Given the description of an element on the screen output the (x, y) to click on. 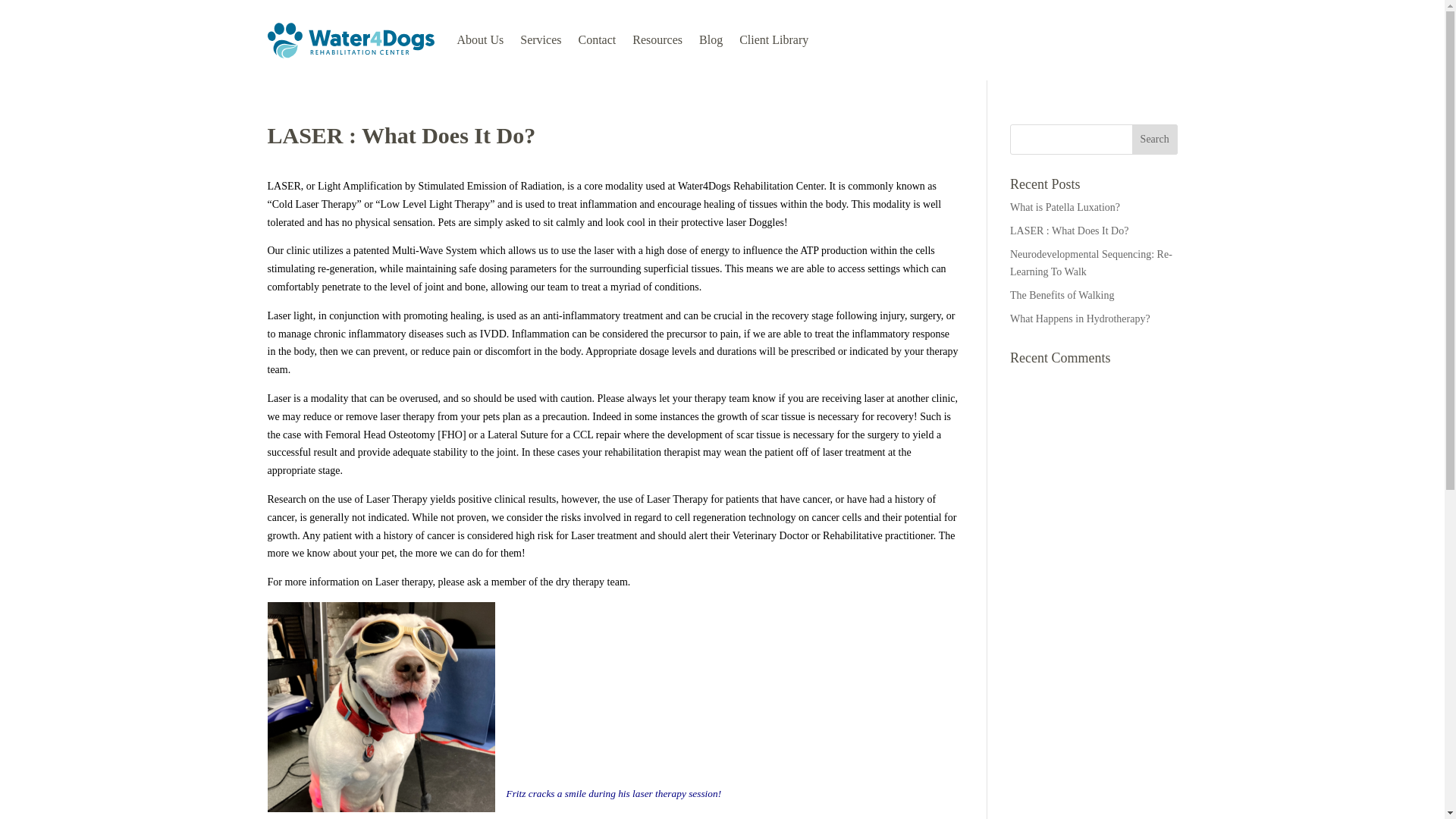
Search (1154, 139)
What is Patella Luxation? (1064, 206)
LASER : What Does It Do? (1069, 230)
What Happens in Hydrotherapy? (1080, 318)
Neurodevelopmental Sequencing: Re-Learning To Walk (1091, 263)
Client Library (773, 39)
The Benefits of Walking (1061, 295)
Search (1154, 139)
